Given the description of an element on the screen output the (x, y) to click on. 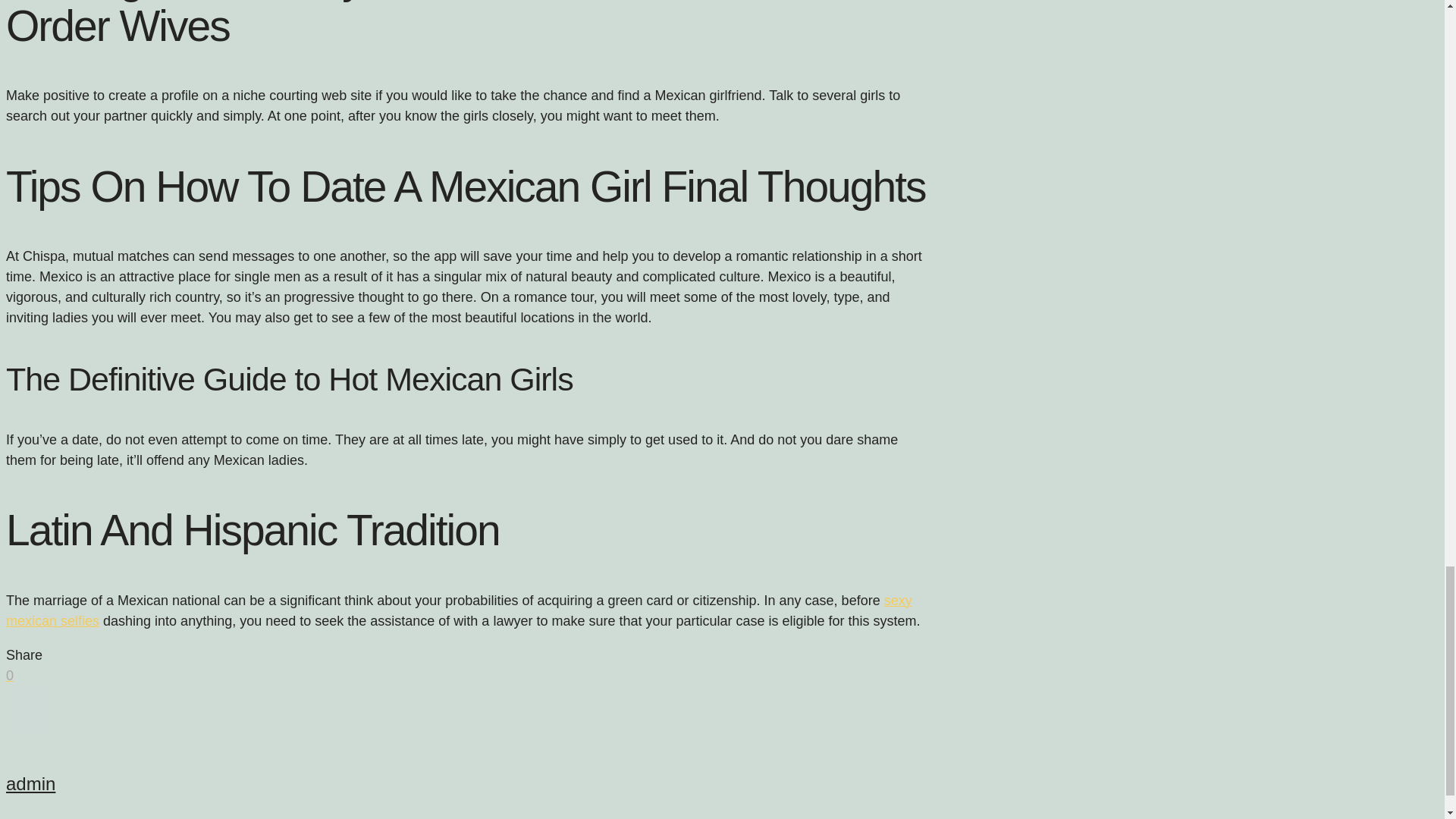
sexy mexican selfies (458, 610)
admin (30, 783)
